Given the description of an element on the screen output the (x, y) to click on. 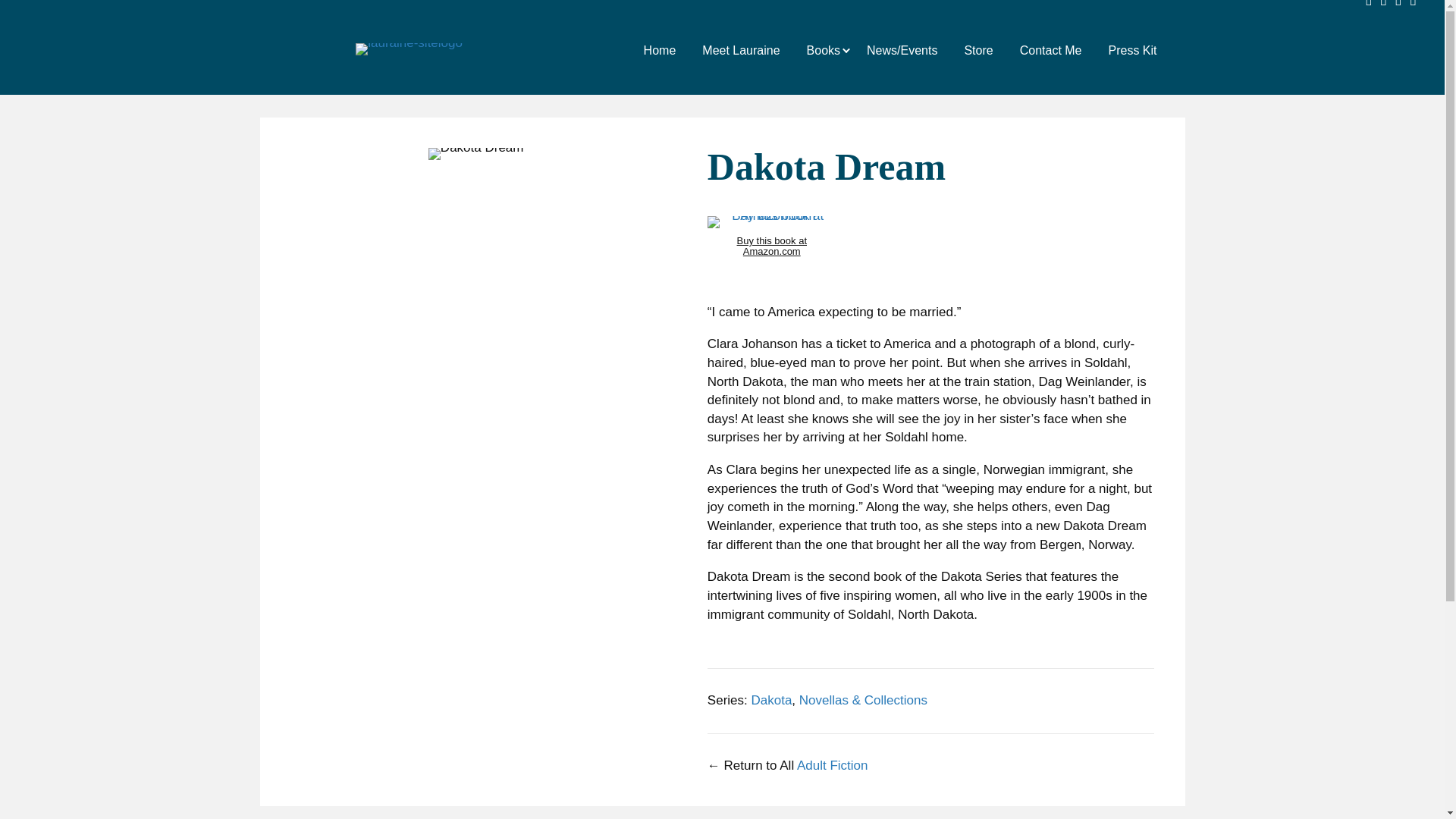
Dakota Dream (476, 153)
Store (977, 49)
Contact Me (1050, 49)
Buy this book at Amazon.com (771, 222)
Dakota (771, 699)
Adult Fiction (831, 765)
Meet Lauraine (739, 49)
Press Kit (1132, 49)
Home (660, 49)
Books (823, 49)
